Given the description of an element on the screen output the (x, y) to click on. 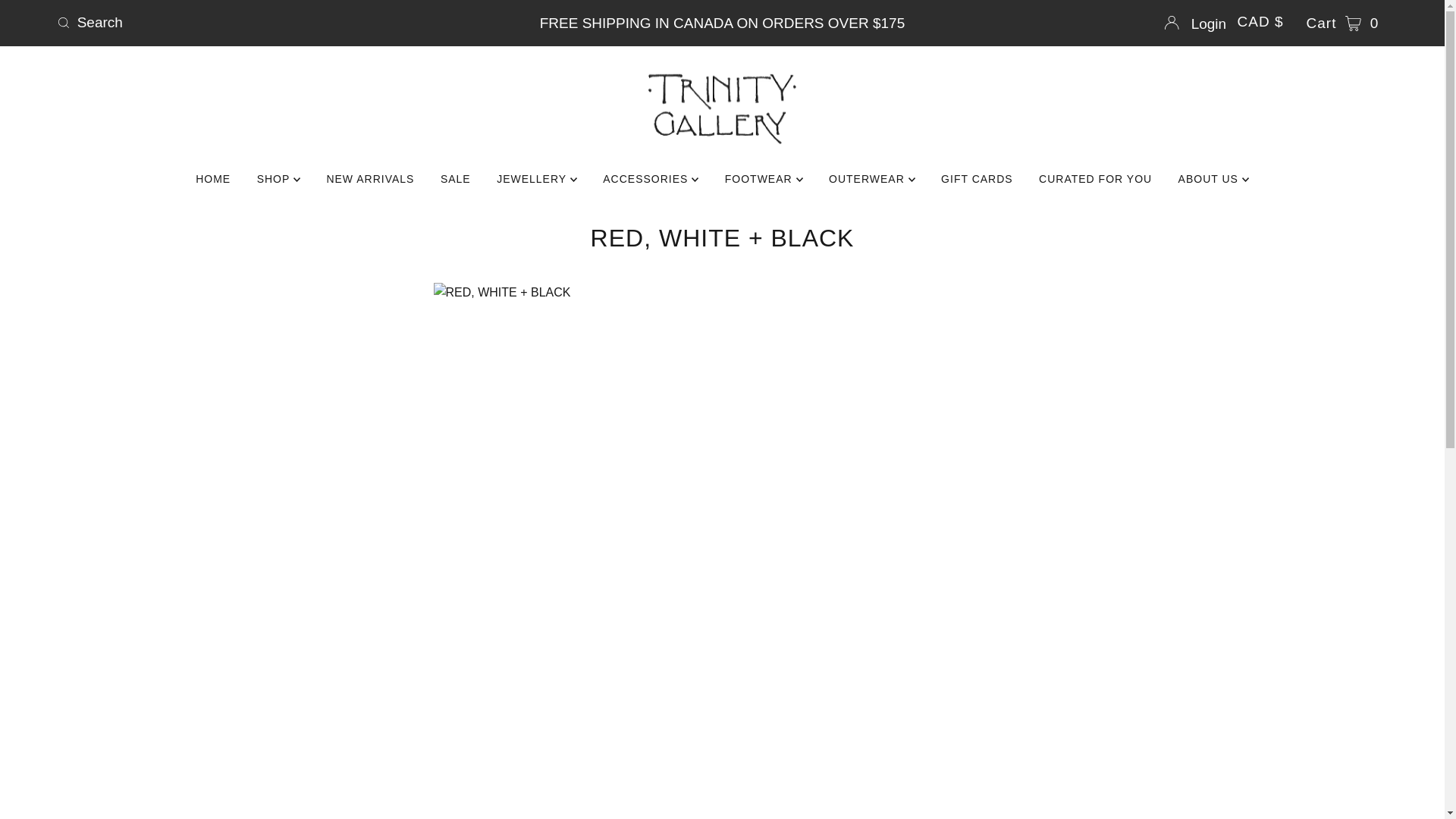
HOME (212, 178)
